Given the description of an element on the screen output the (x, y) to click on. 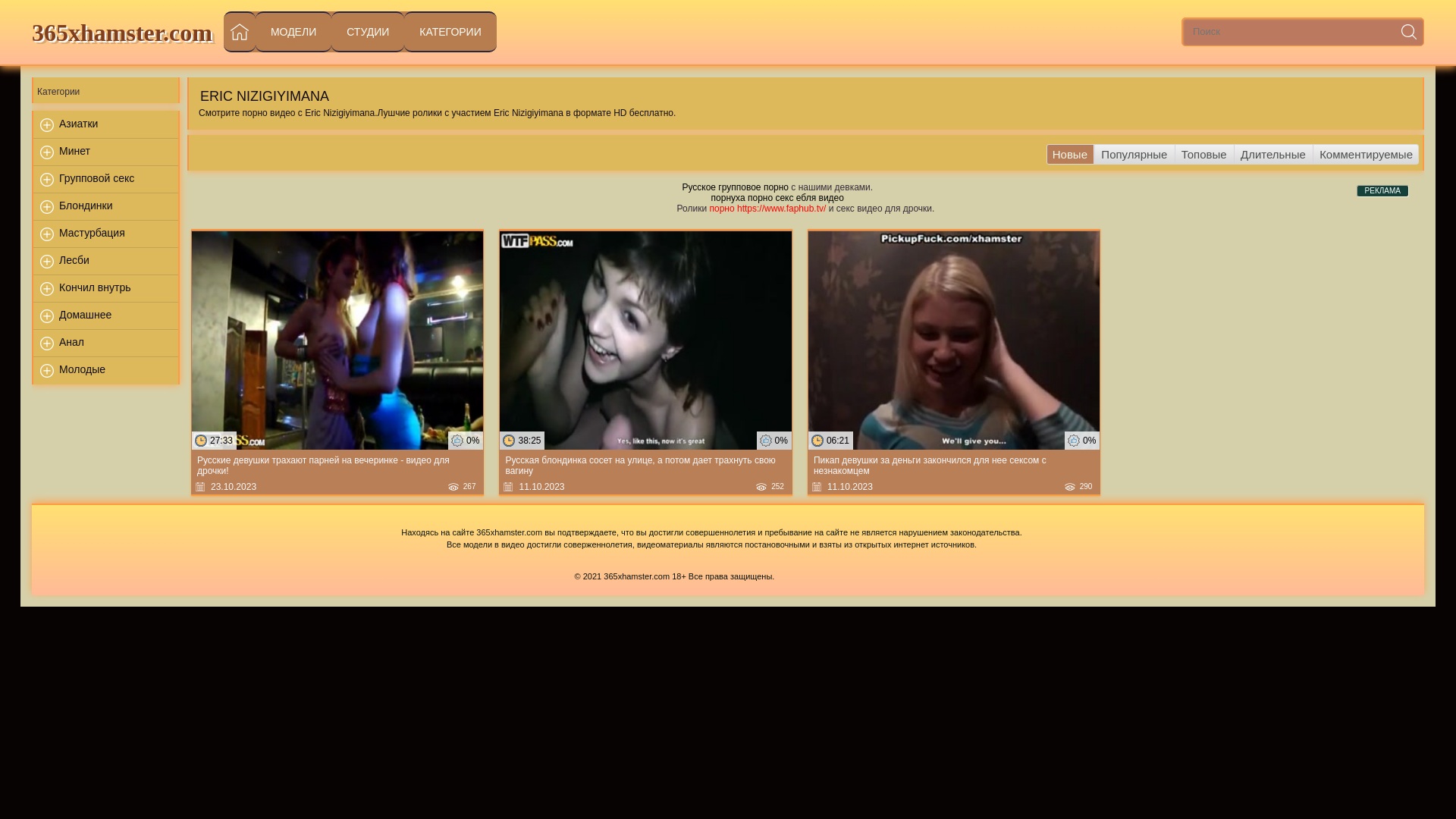
365xhamster.com Element type: text (121, 32)
